Given the description of an element on the screen output the (x, y) to click on. 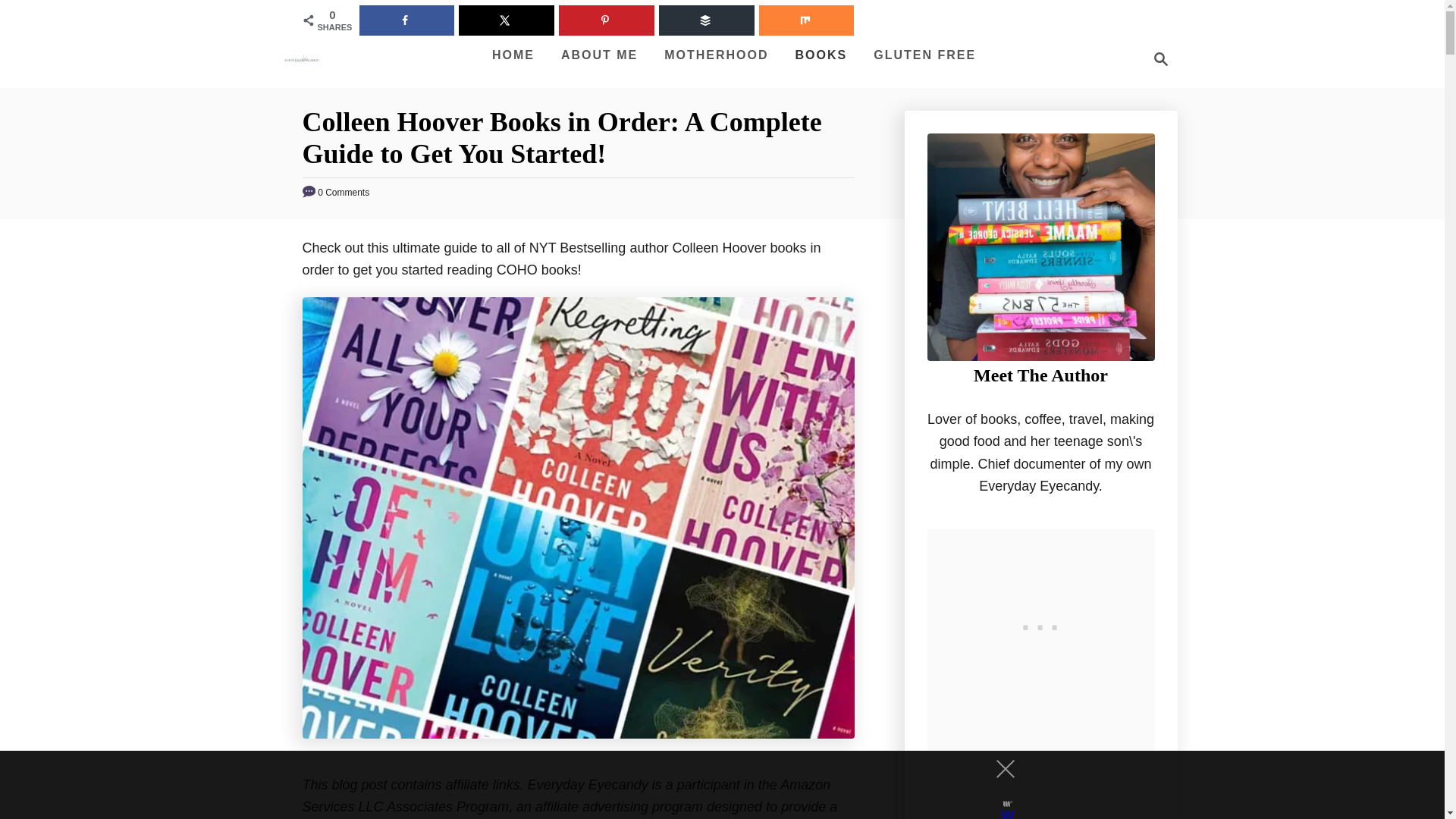
Everyday Eyecandy (301, 58)
Save to Pinterest (606, 20)
BOOKS (821, 54)
Share on Buffer (706, 20)
Share on X (506, 20)
MOTHERHOOD (716, 54)
Magnifying Glass (1160, 58)
Share on Facebook (406, 20)
HOME (512, 54)
ABOUT ME (599, 54)
3rd party ad content (1155, 58)
GLUTEN FREE (1040, 624)
